Given the description of an element on the screen output the (x, y) to click on. 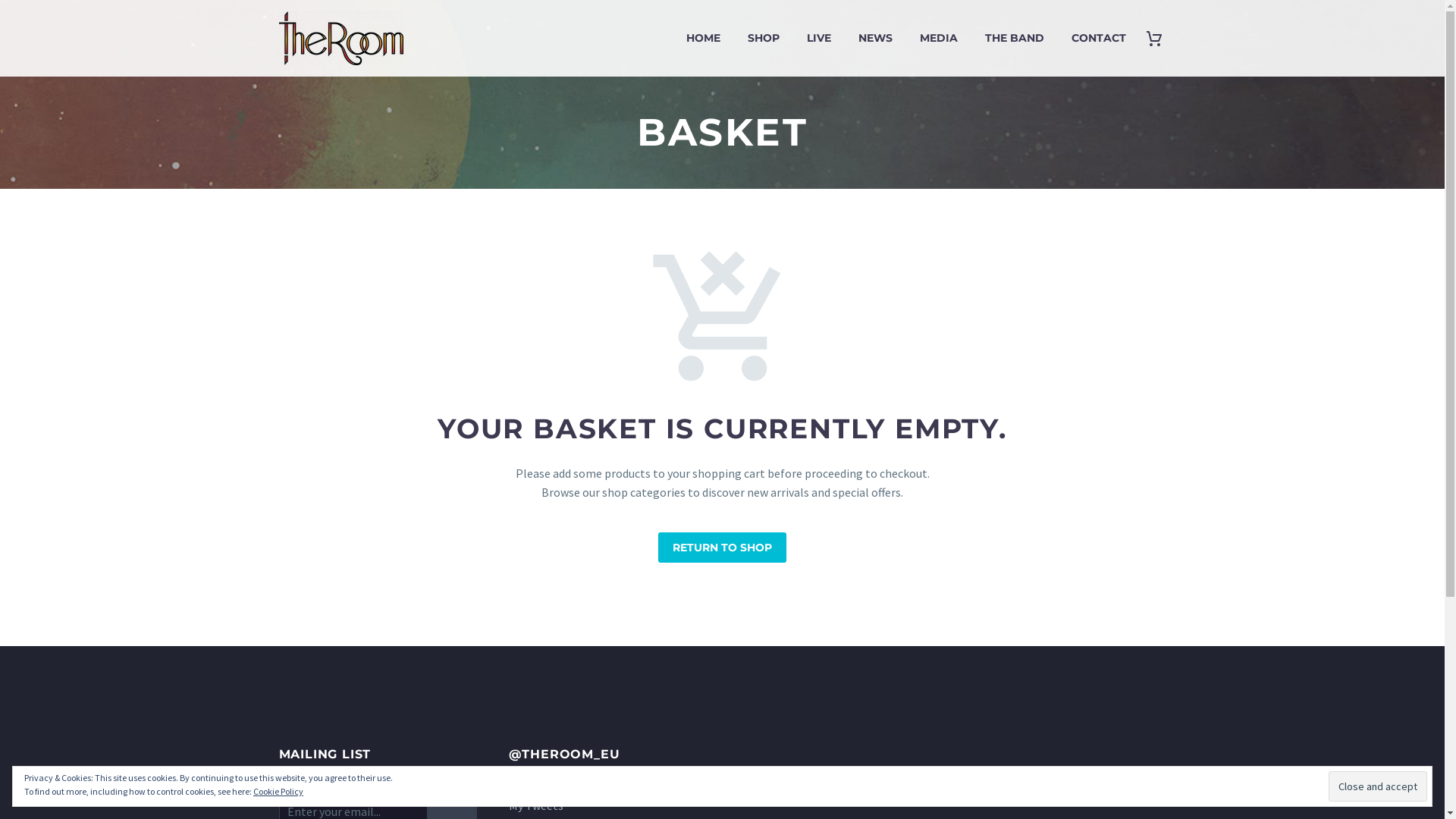
Cookie Policy Element type: text (278, 791)
HOME Element type: text (702, 37)
NEWS Element type: text (874, 37)
My Tweets Element type: text (535, 804)
CONTACT Element type: text (1098, 37)
SHOP Element type: text (762, 37)
RETURN TO SHOP Element type: text (722, 547)
Close and accept Element type: text (1377, 786)
LIVE Element type: text (817, 37)
THE BAND Element type: text (1014, 37)
MEDIA Element type: text (938, 37)
